Given the description of an element on the screen output the (x, y) to click on. 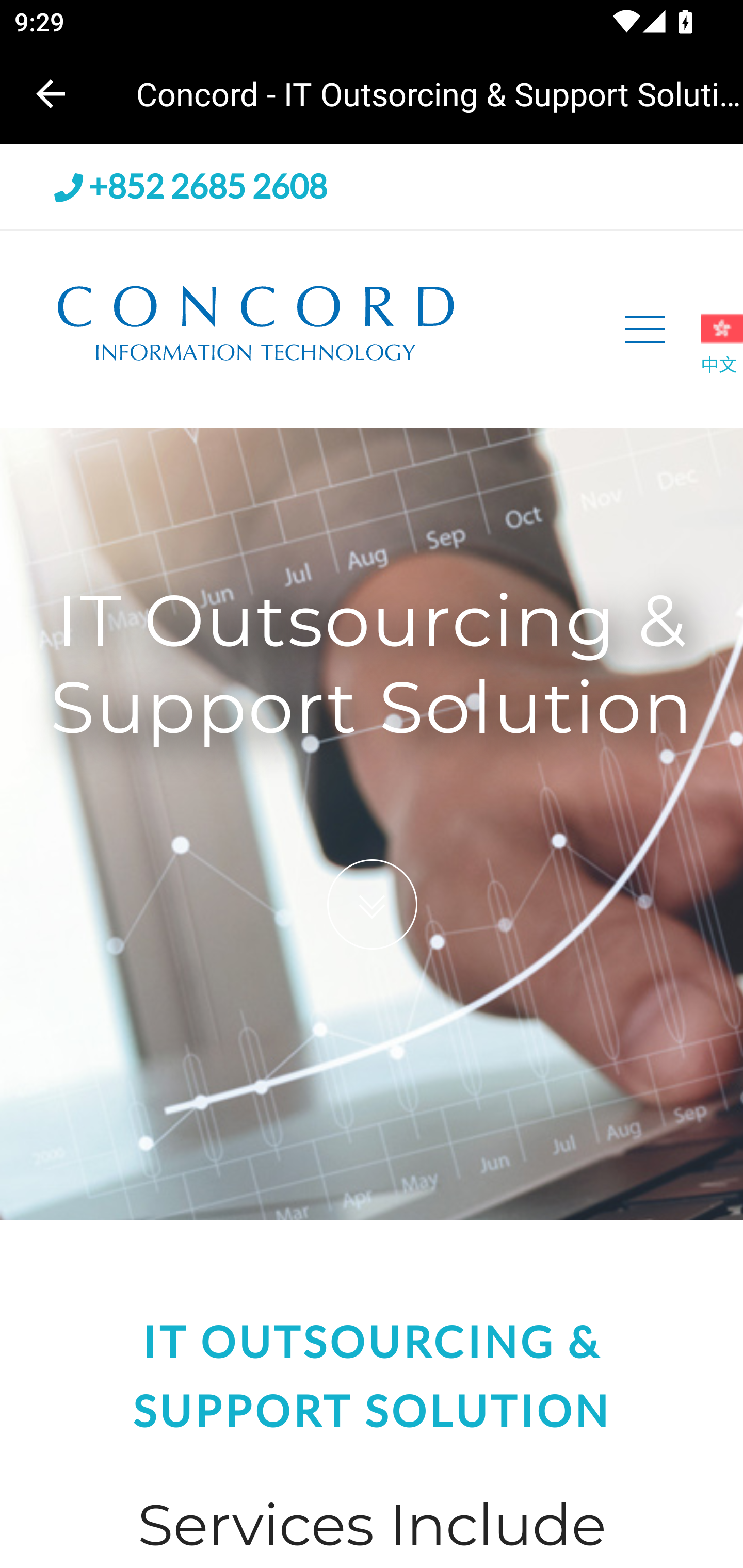
Navigate up (50, 93)
+852 2685 2608  +852 2685 2608 (191, 187)
javascript:void(0); (645, 328)
 中文 中文 (721, 343)
 (372, 905)
